Given the description of an element on the screen output the (x, y) to click on. 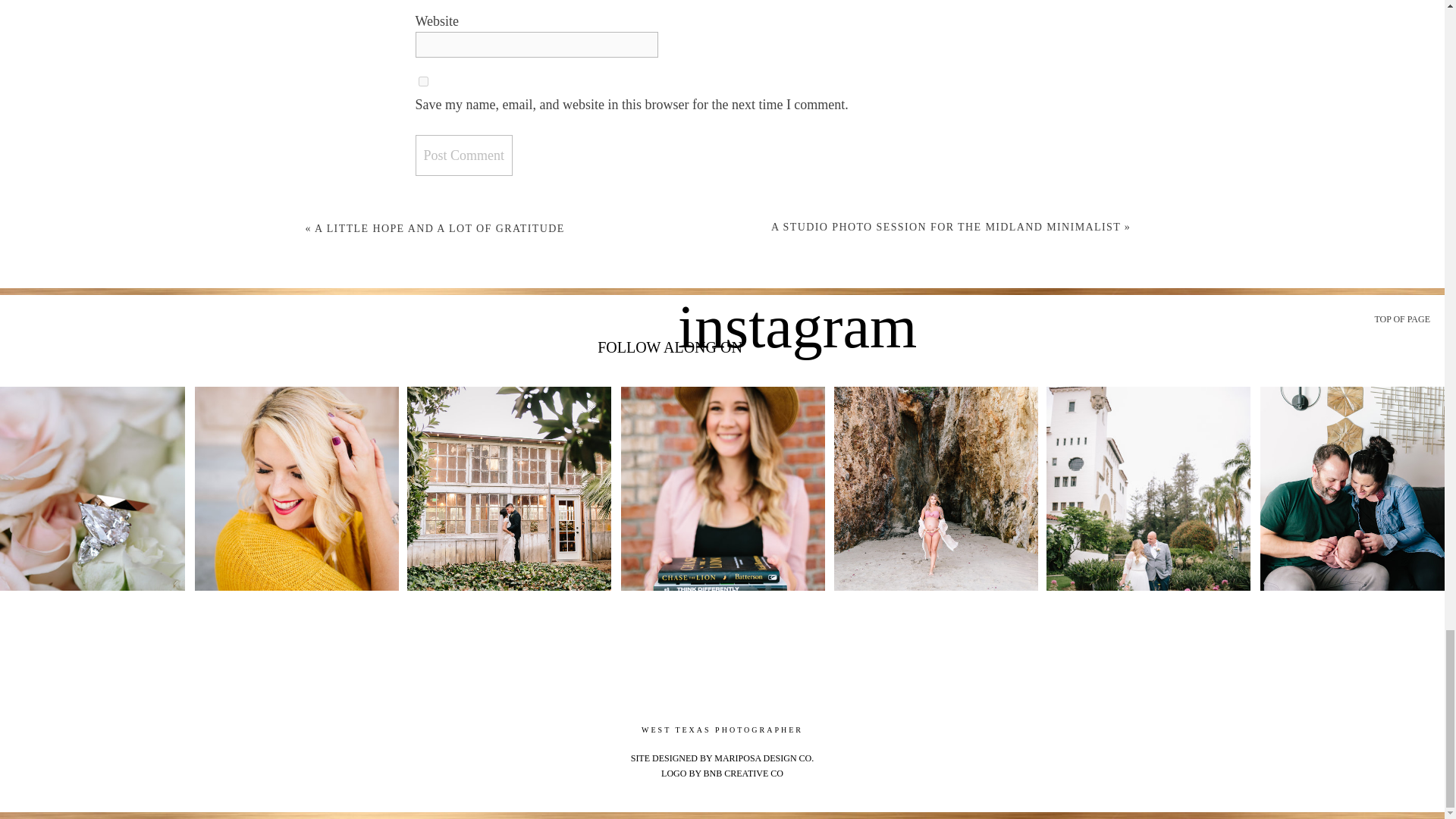
instagram (796, 340)
Post Comment (463, 155)
TOP OF PAGE (1399, 319)
A STUDIO PHOTO SESSION FOR THE MIDLAND MINIMALIST (946, 226)
yes (423, 81)
FOLLOW ALONG ON (670, 350)
Post Comment (463, 155)
A LITTLE HOPE AND A LOT OF GRATITUDE (439, 228)
SITE DESIGNED BY MARIPOSA DESIGN CO. (722, 758)
